Given the description of an element on the screen output the (x, y) to click on. 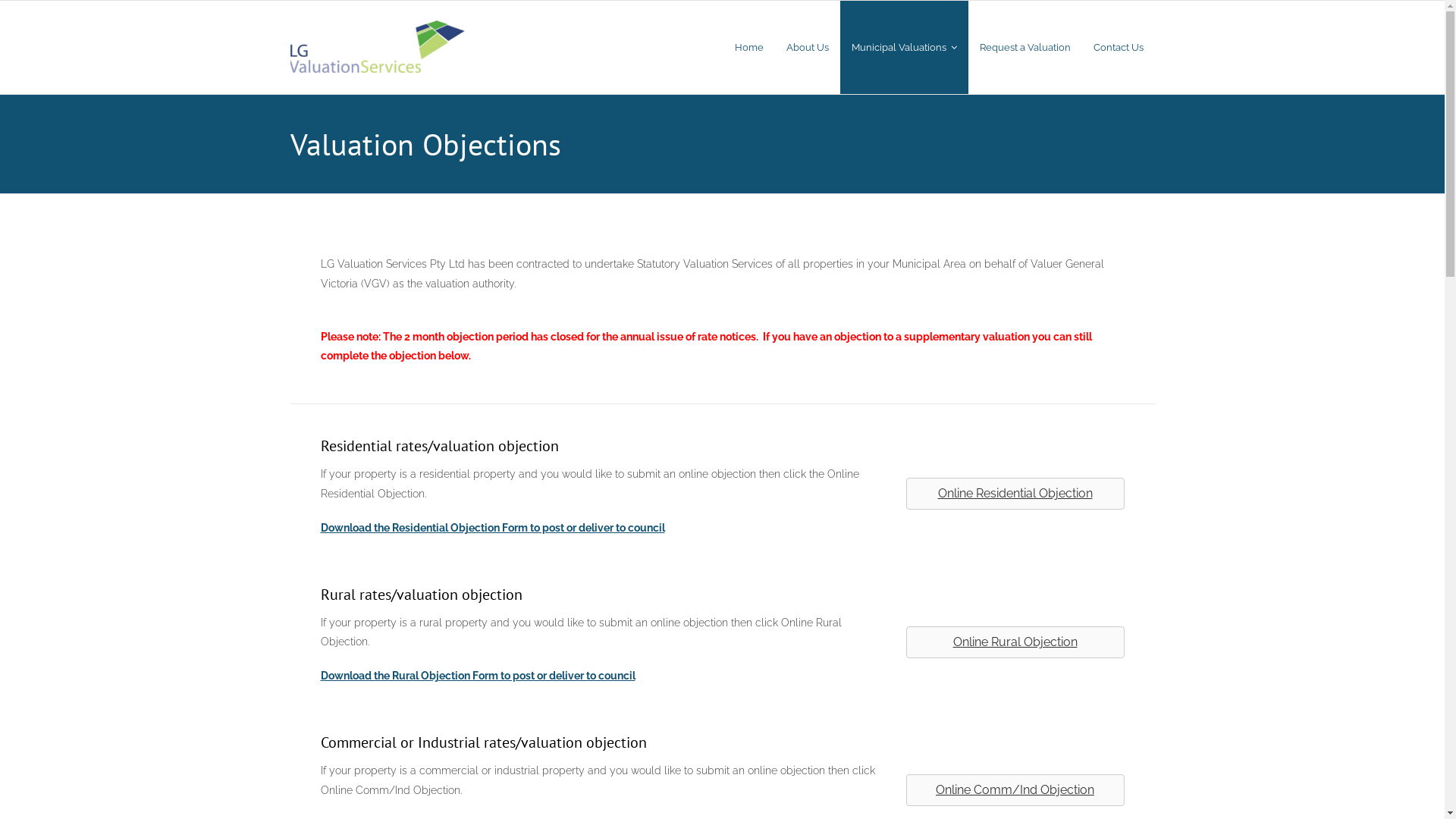
Contact Us Element type: text (1117, 47)
Online Rural Objection Element type: text (1014, 642)
Online Residential Objection Element type: text (1014, 493)
Online Comm/Ind Objection Element type: text (1014, 790)
Home Element type: text (749, 47)
About Us Element type: text (807, 47)
Request a Valuation Element type: text (1024, 47)
Municipal Valuations Element type: text (904, 47)
